Given the description of an element on the screen output the (x, y) to click on. 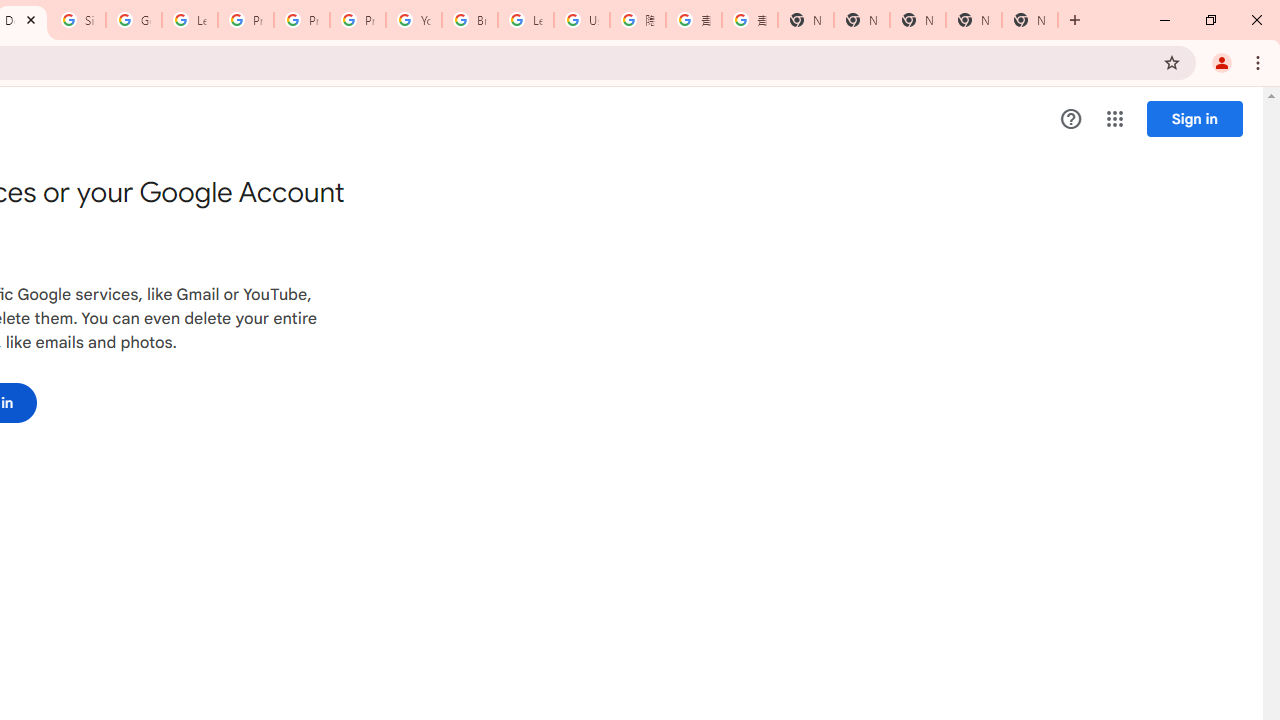
Browse Chrome as a guest - Computer - Google Chrome Help (469, 20)
YouTube (413, 20)
Google apps (1114, 118)
